Given the description of an element on the screen output the (x, y) to click on. 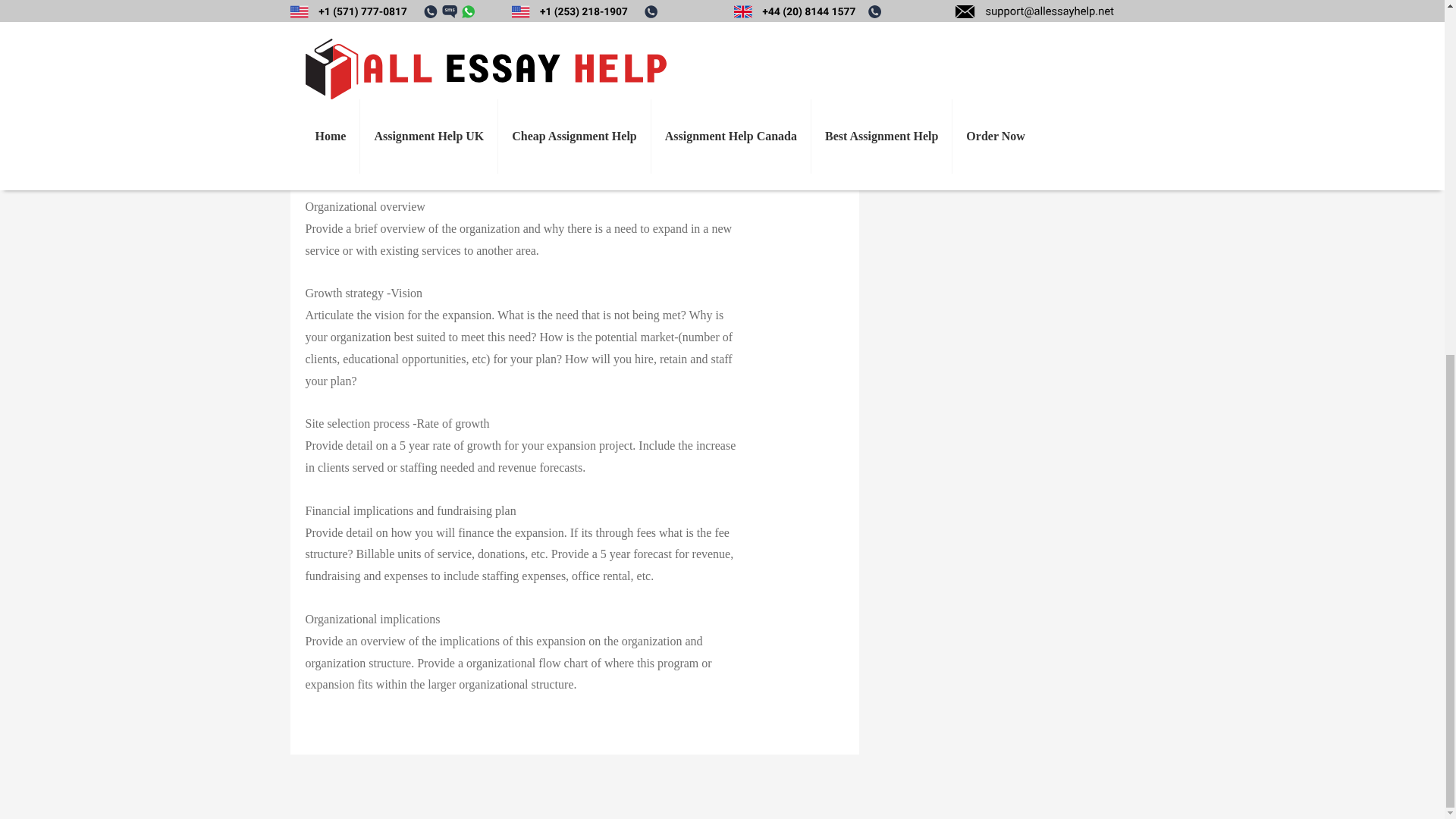
Assignment help (365, 166)
Assignment help (357, 194)
course Work (520, 67)
College Essay (448, 103)
Education (582, 7)
